Given the description of an element on the screen output the (x, y) to click on. 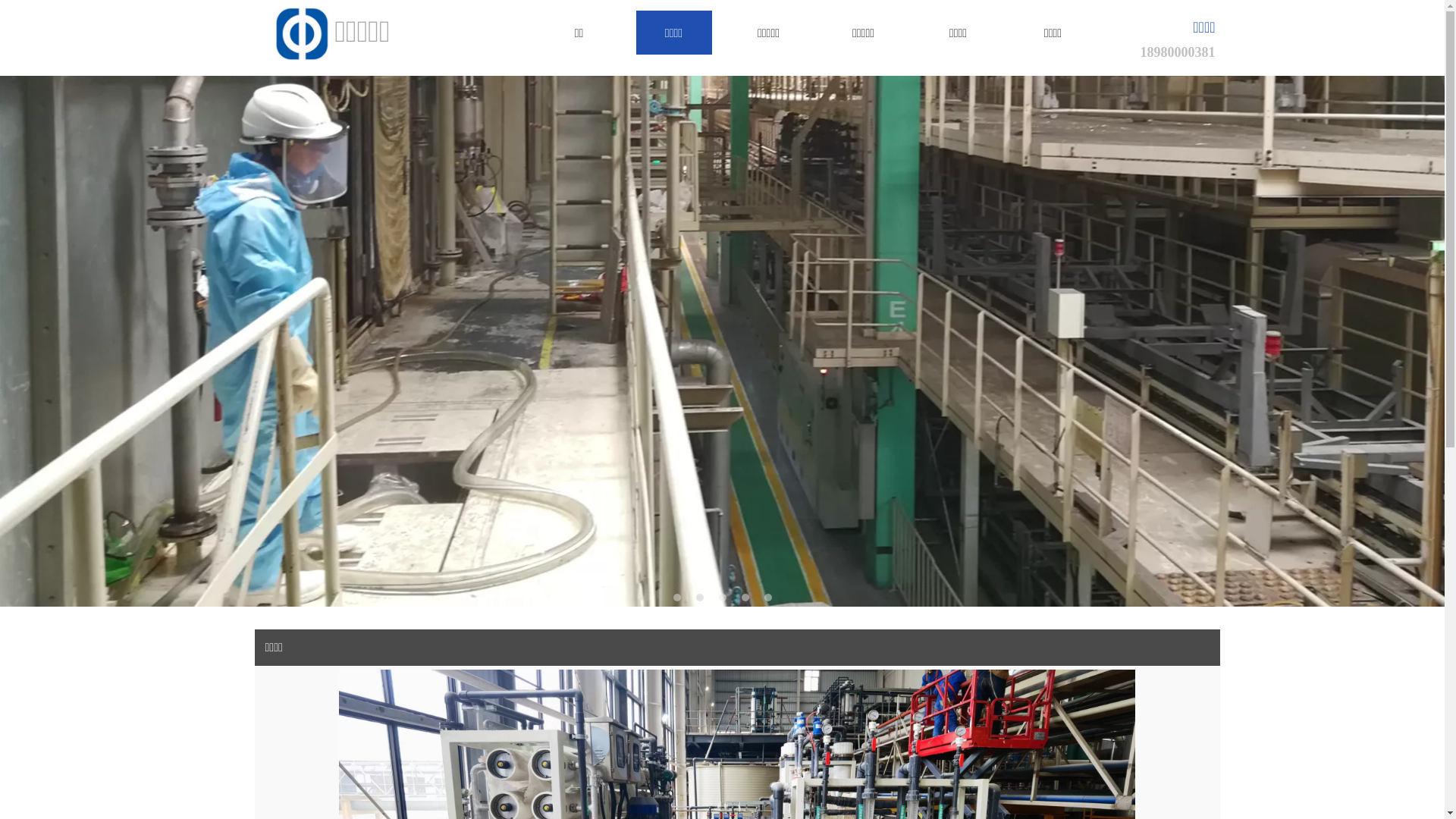
fkhbhs05 Element type: hover (301, 33)
